Given the description of an element on the screen output the (x, y) to click on. 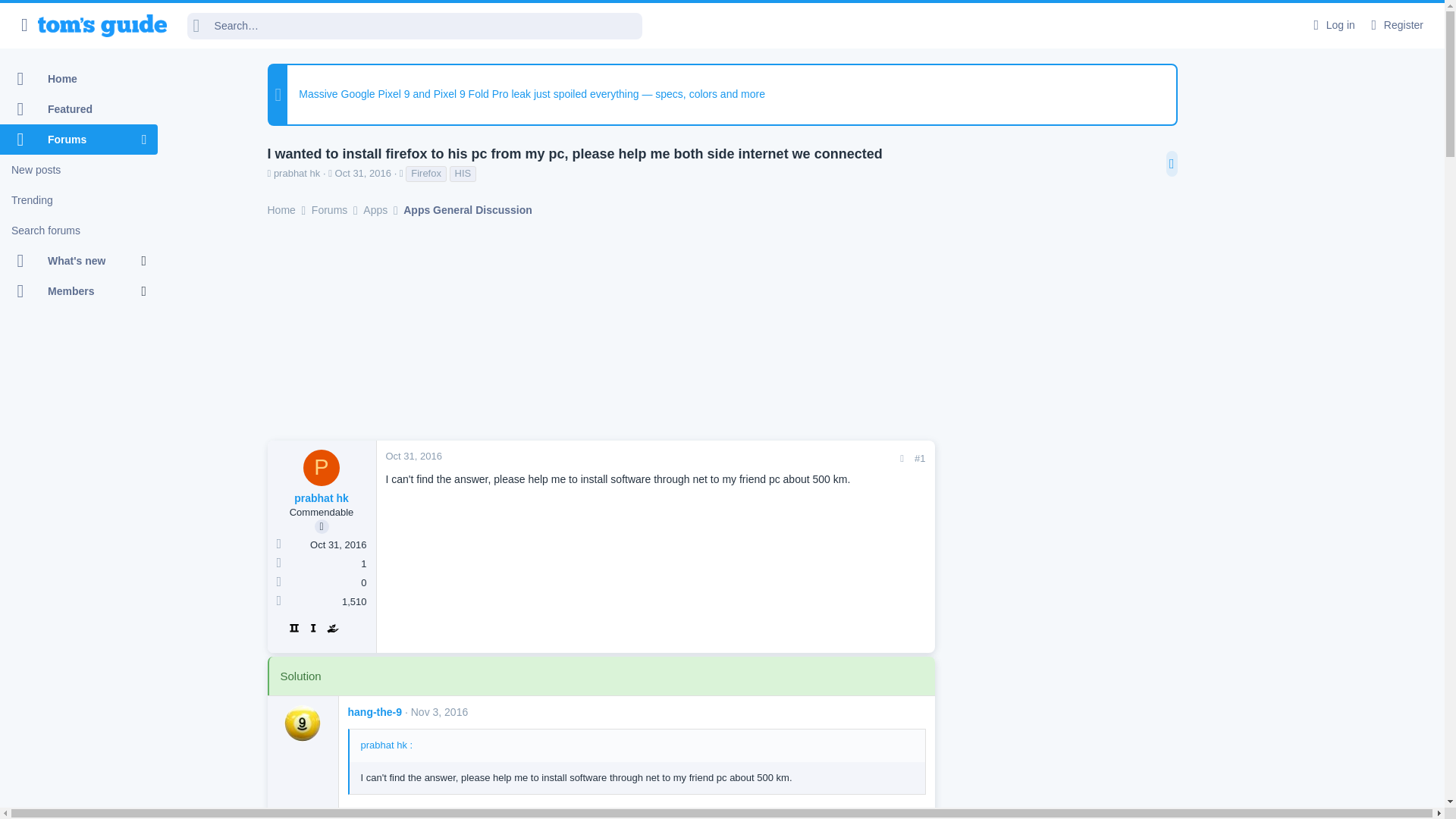
Oct 31, 2016 at 8:46 PM (362, 173)
Thread starter (268, 173)
Register (1395, 24)
Nov 3, 2016 at 1:29 PM (439, 711)
Tags (400, 173)
Oct 31, 2016 at 8:46 PM (413, 455)
Log in (1332, 24)
